Given the description of an element on the screen output the (x, y) to click on. 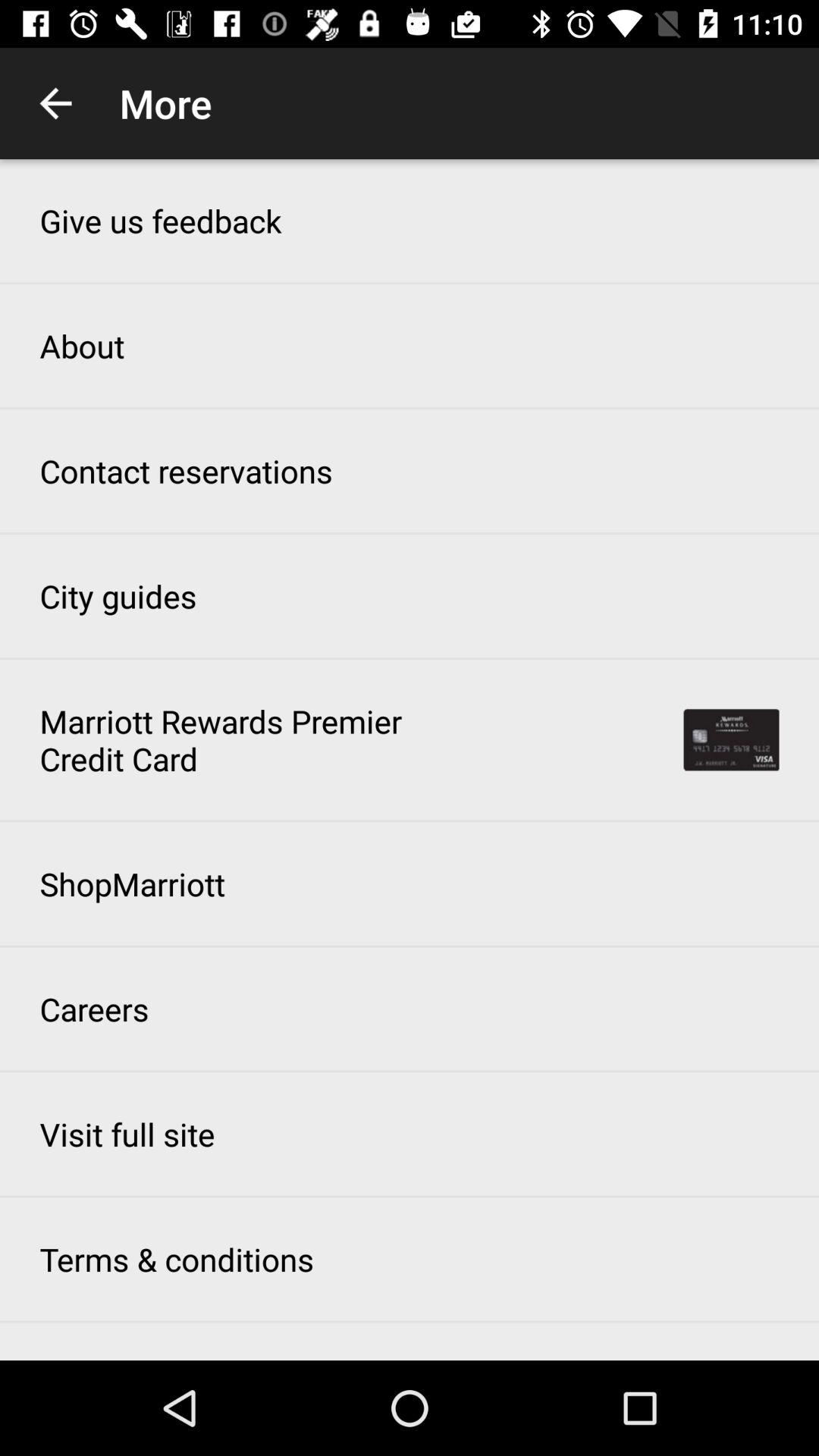
select the icon below about item (185, 470)
